Given the description of an element on the screen output the (x, y) to click on. 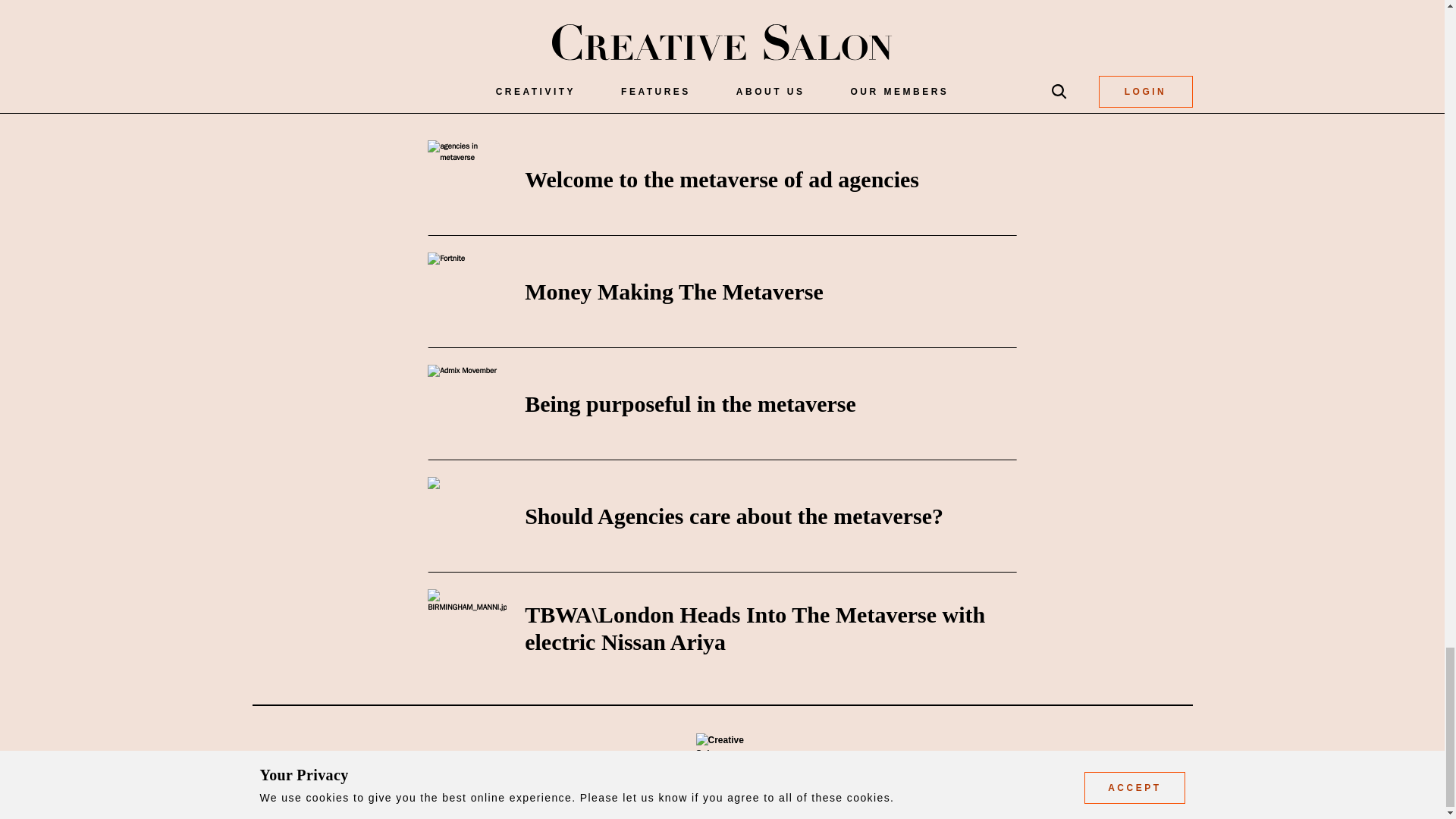
Should Agencies care about the metaverse? (733, 515)
Being purposeful in the metaverse (690, 403)
LinkedIn (433, 2)
Welcome to the metaverse of ad agencies (721, 179)
Twitter (494, 2)
Money Making The Metaverse (674, 291)
PRIVACY (989, 763)
ABOUT (839, 763)
CONTACT (911, 763)
